Given the description of an element on the screen output the (x, y) to click on. 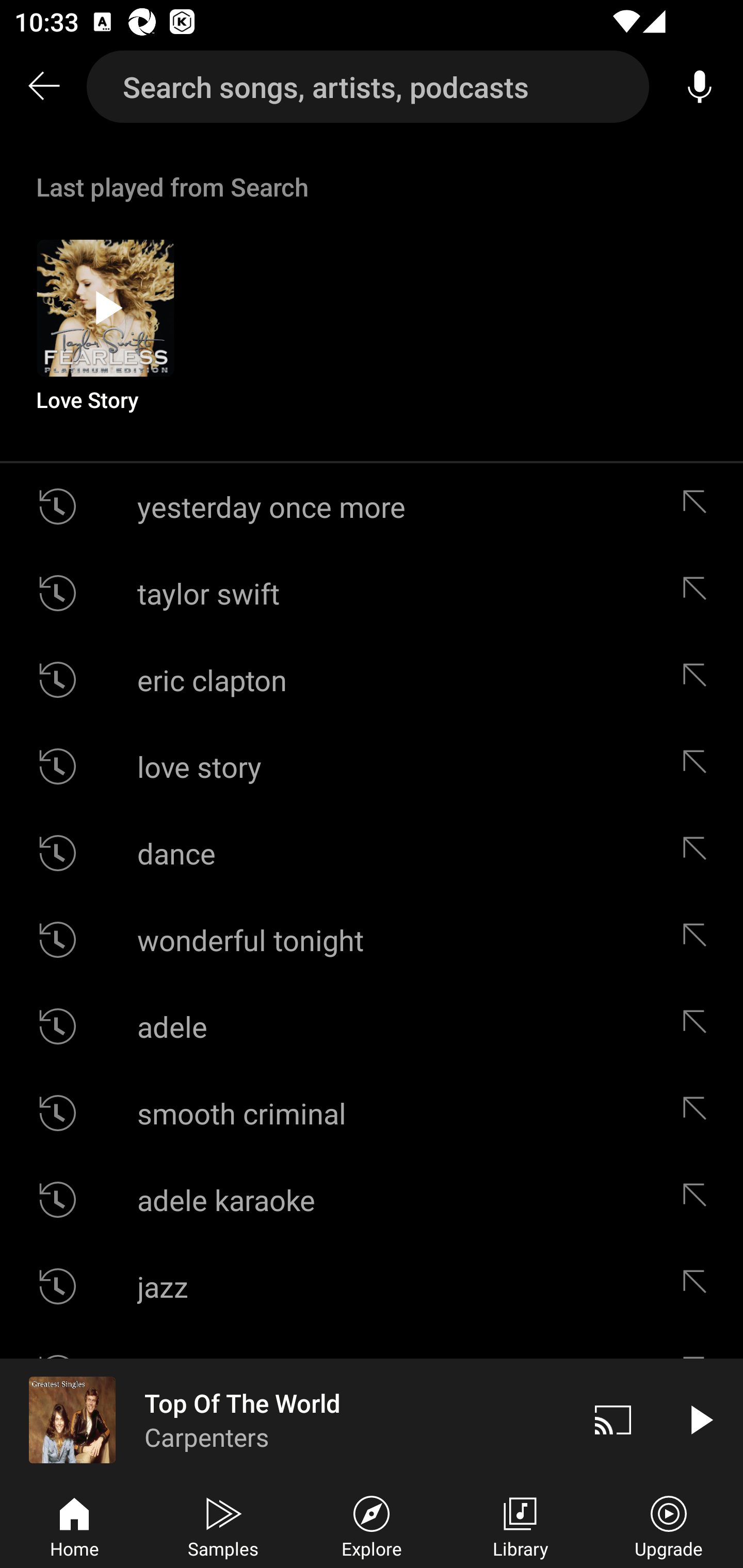
Search back (43, 86)
Search songs, artists, podcasts (367, 86)
Voice search (699, 86)
Edit suggestion yesterday once more (699, 506)
taylor swift Edit suggestion taylor swift (371, 593)
Edit suggestion taylor swift (699, 593)
eric clapton Edit suggestion eric clapton (371, 679)
Edit suggestion eric clapton (699, 679)
love story Edit suggestion love story (371, 765)
Edit suggestion love story (699, 765)
dance Edit suggestion dance (371, 852)
Edit suggestion dance (699, 852)
Edit suggestion wonderful tonight (699, 939)
adele Edit suggestion adele (371, 1026)
Edit suggestion adele (699, 1026)
smooth criminal Edit suggestion smooth criminal (371, 1113)
Edit suggestion smooth criminal (699, 1113)
adele karaoke Edit suggestion adele karaoke (371, 1200)
Edit suggestion adele karaoke (699, 1200)
jazz Edit suggestion jazz (371, 1286)
Edit suggestion jazz (699, 1286)
Top Of The World Carpenters (284, 1419)
Cast. Disconnected (612, 1419)
Play video (699, 1419)
Home (74, 1524)
Samples (222, 1524)
Explore (371, 1524)
Library (519, 1524)
Upgrade (668, 1524)
